Given the description of an element on the screen output the (x, y) to click on. 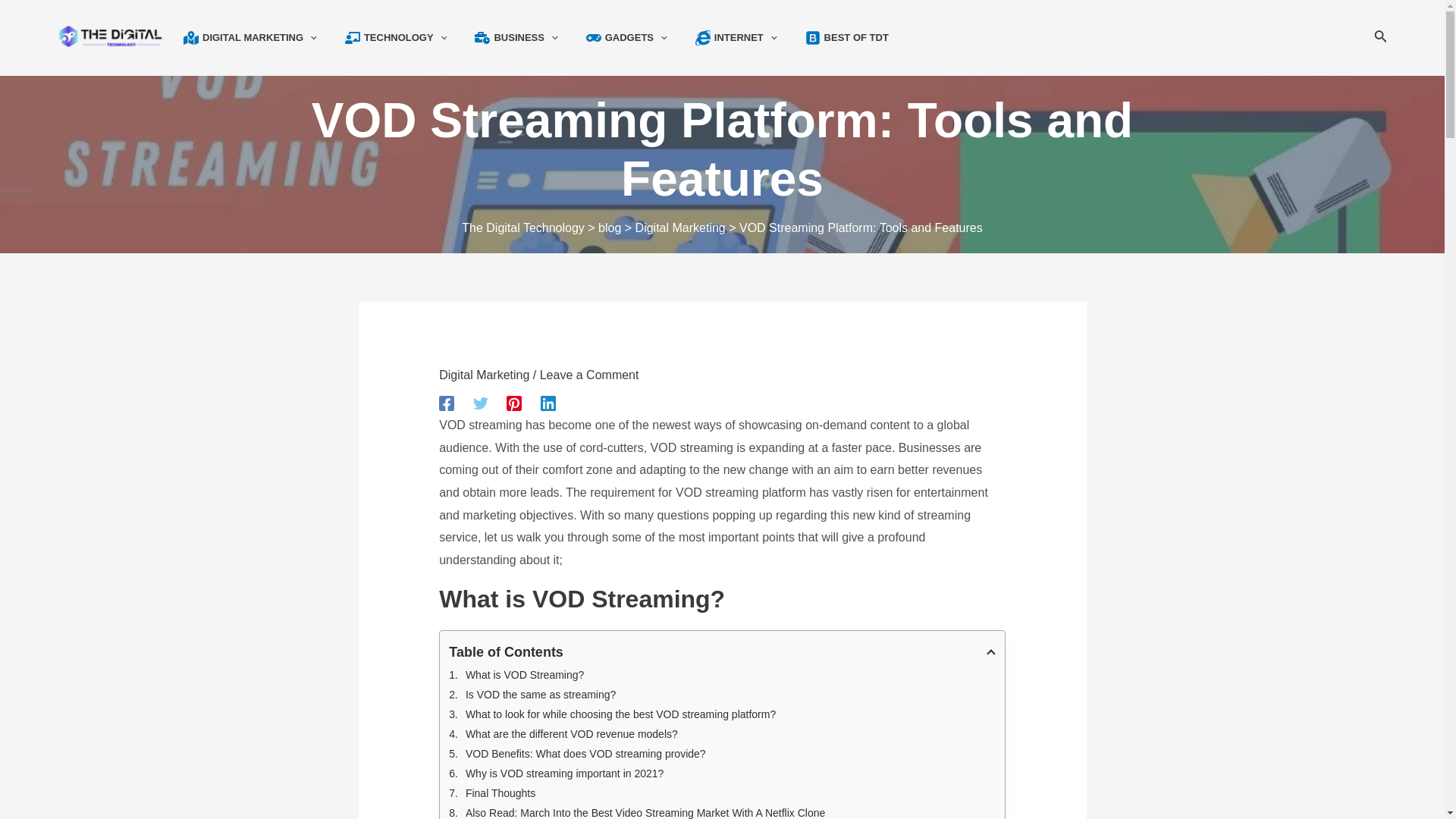
DIGITAL MARKETING (259, 38)
INTERNET (746, 38)
BUSINESS (525, 38)
BEST OF TDT (857, 38)
Go to The Digital Technology. (523, 227)
Go to the Digital Marketing Category archives. (679, 227)
TECHNOLOGY (405, 38)
Go to blog. (609, 227)
GADGETS (636, 38)
